Given the description of an element on the screen output the (x, y) to click on. 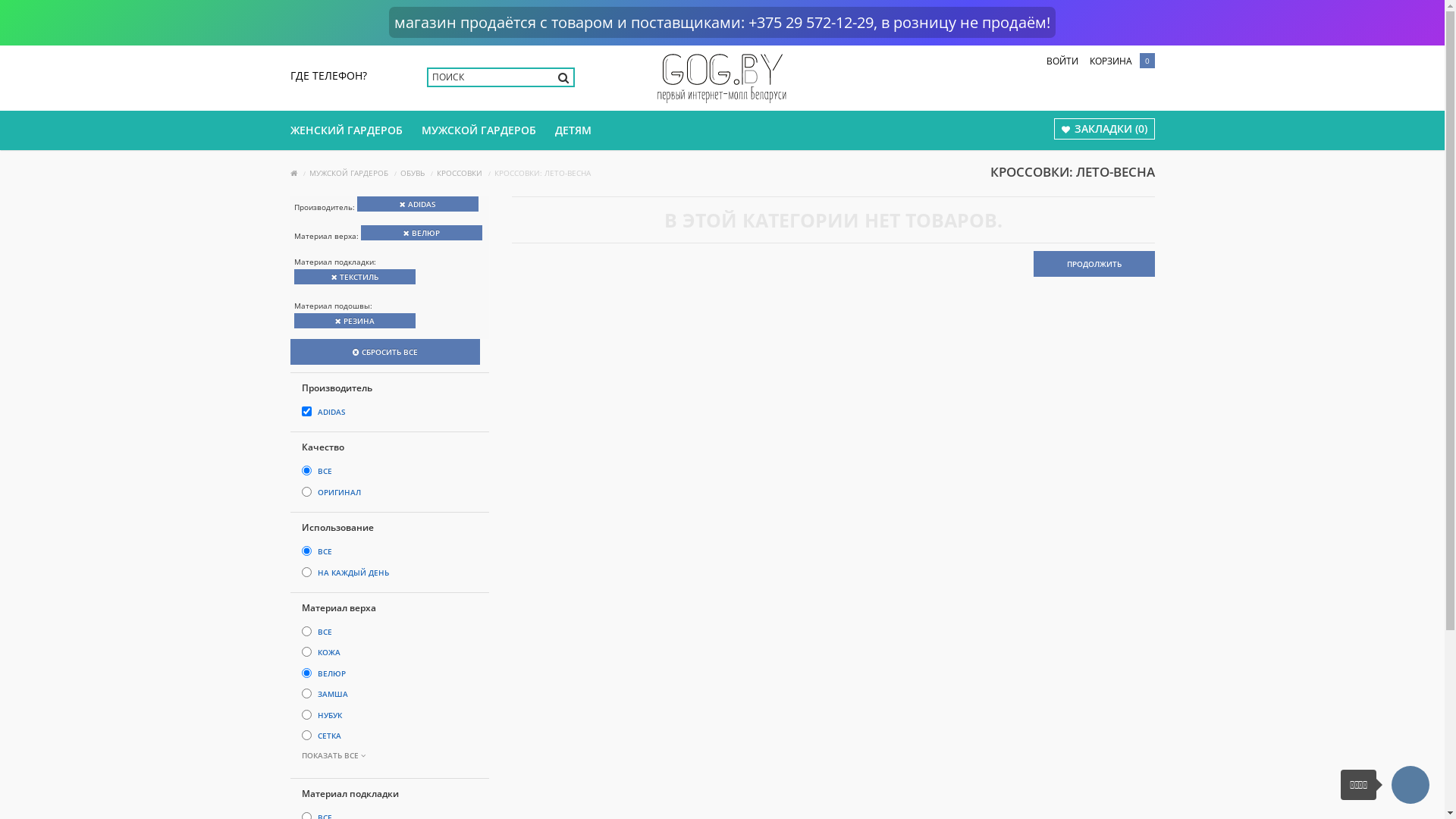
ADIDAS Element type: text (416, 203)
0 Element type: text (1142, 60)
ADIDAS Element type: text (330, 411)
gog.by Element type: hover (721, 78)
